Given the description of an element on the screen output the (x, y) to click on. 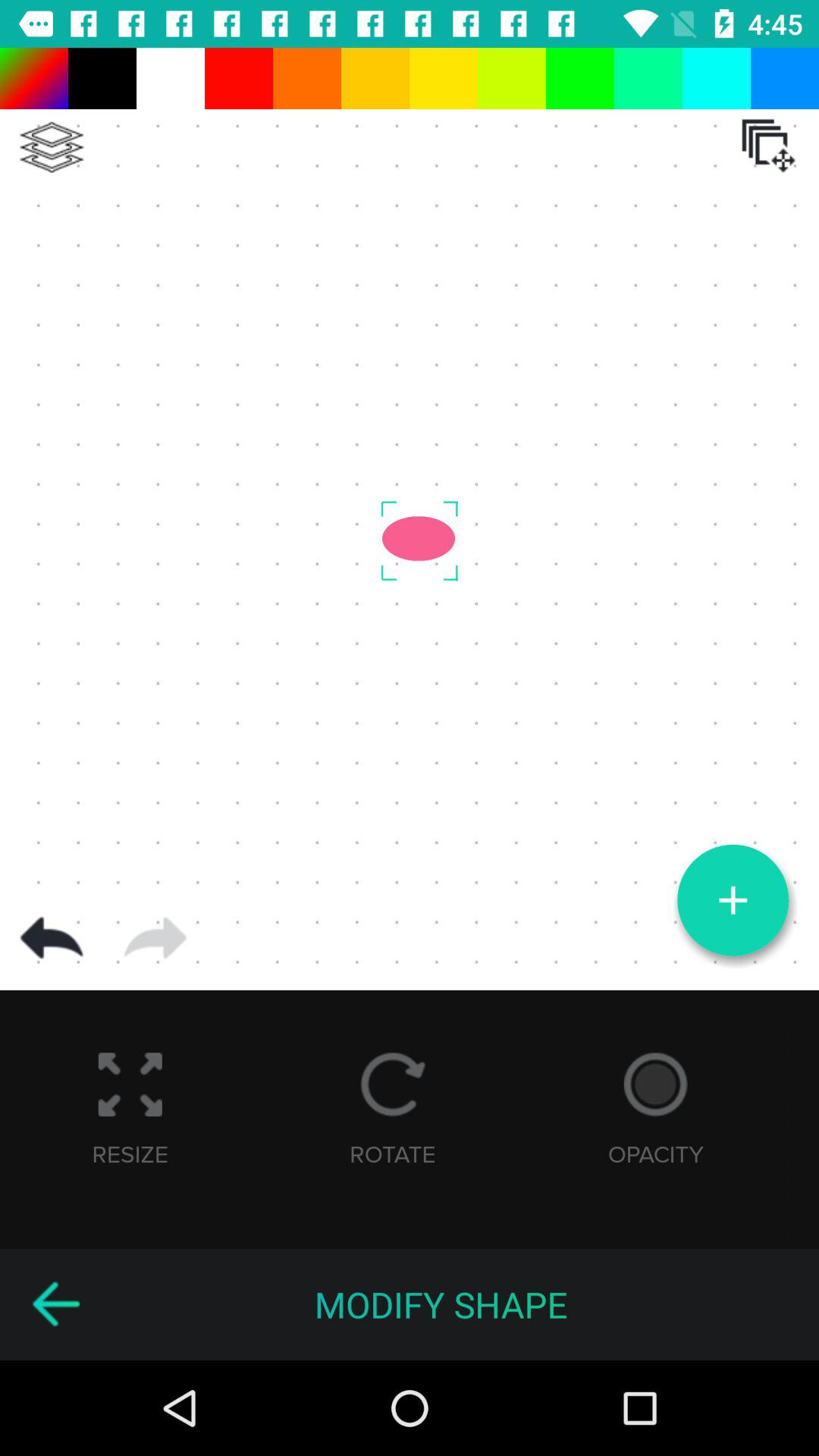
go back (55, 1304)
